Given the description of an element on the screen output the (x, y) to click on. 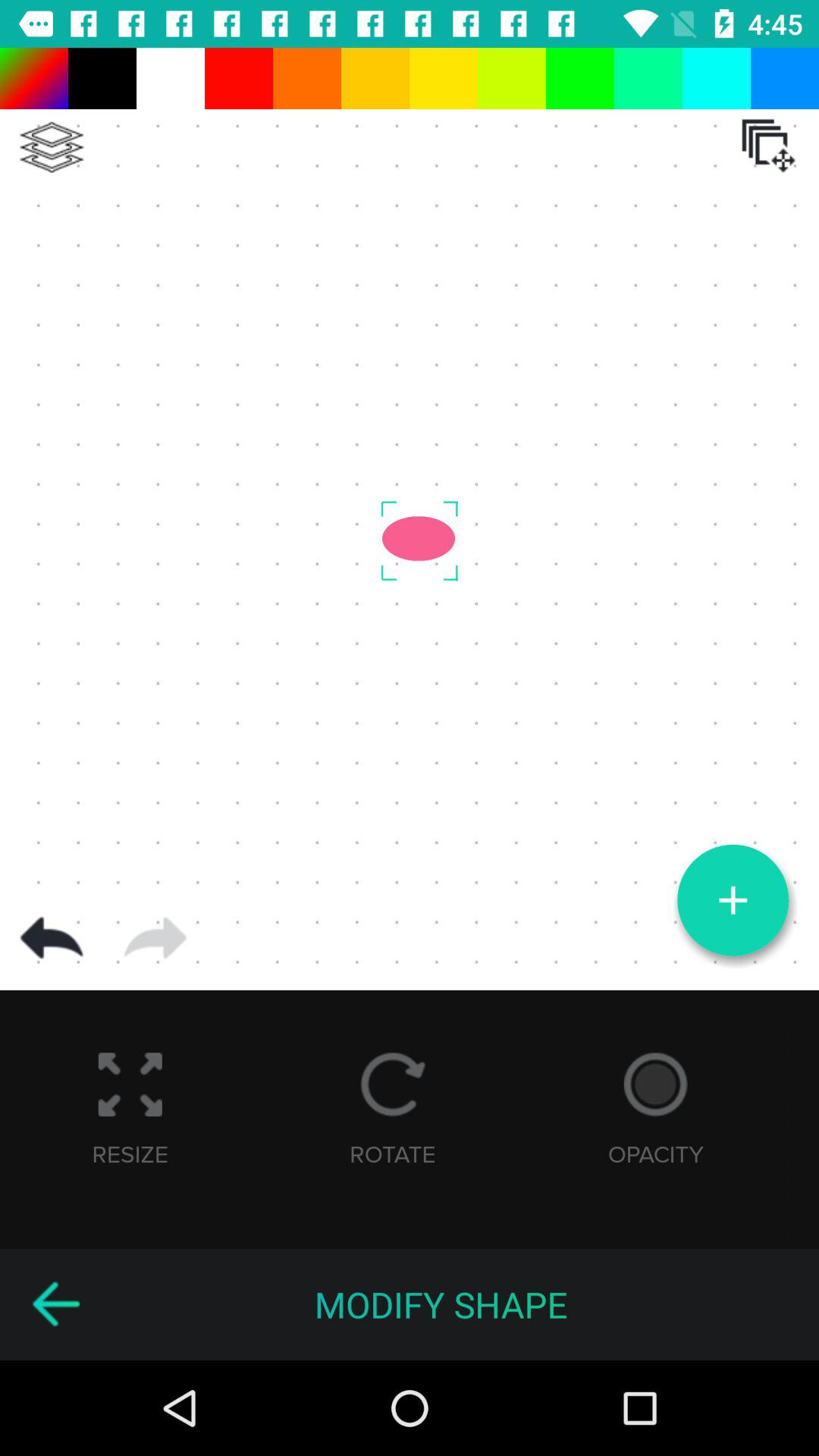
go back (55, 1304)
